Given the description of an element on the screen output the (x, y) to click on. 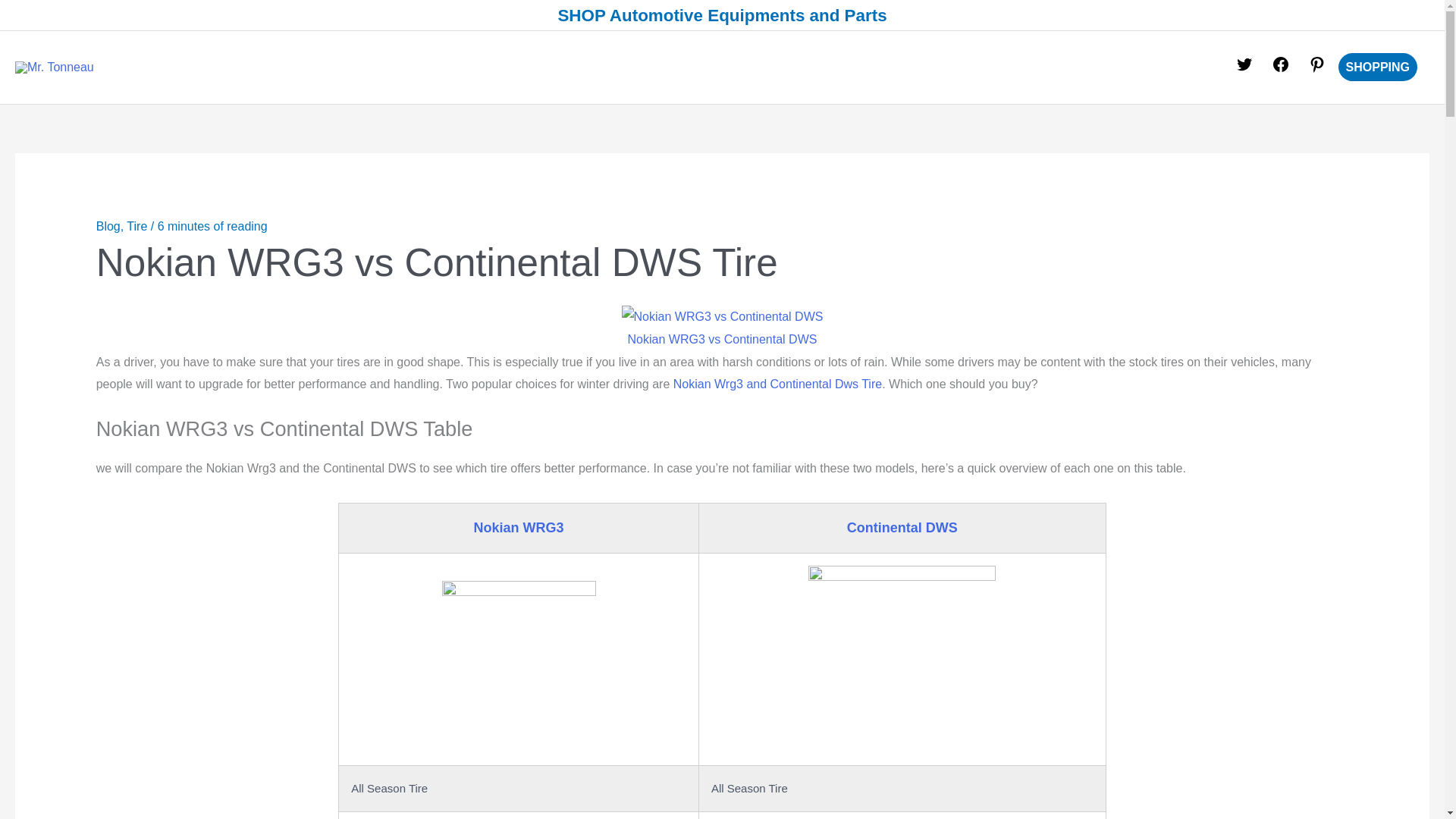
Account (1176, 67)
Tonneau Cover (742, 67)
FORUM (1009, 67)
SHOP Automotive Equipments and Parts (721, 15)
Contact Us (1090, 67)
Nokian WRG2 vs WRG3 Tire (777, 383)
Category (932, 67)
Lubricants (845, 67)
